Given the description of an element on the screen output the (x, y) to click on. 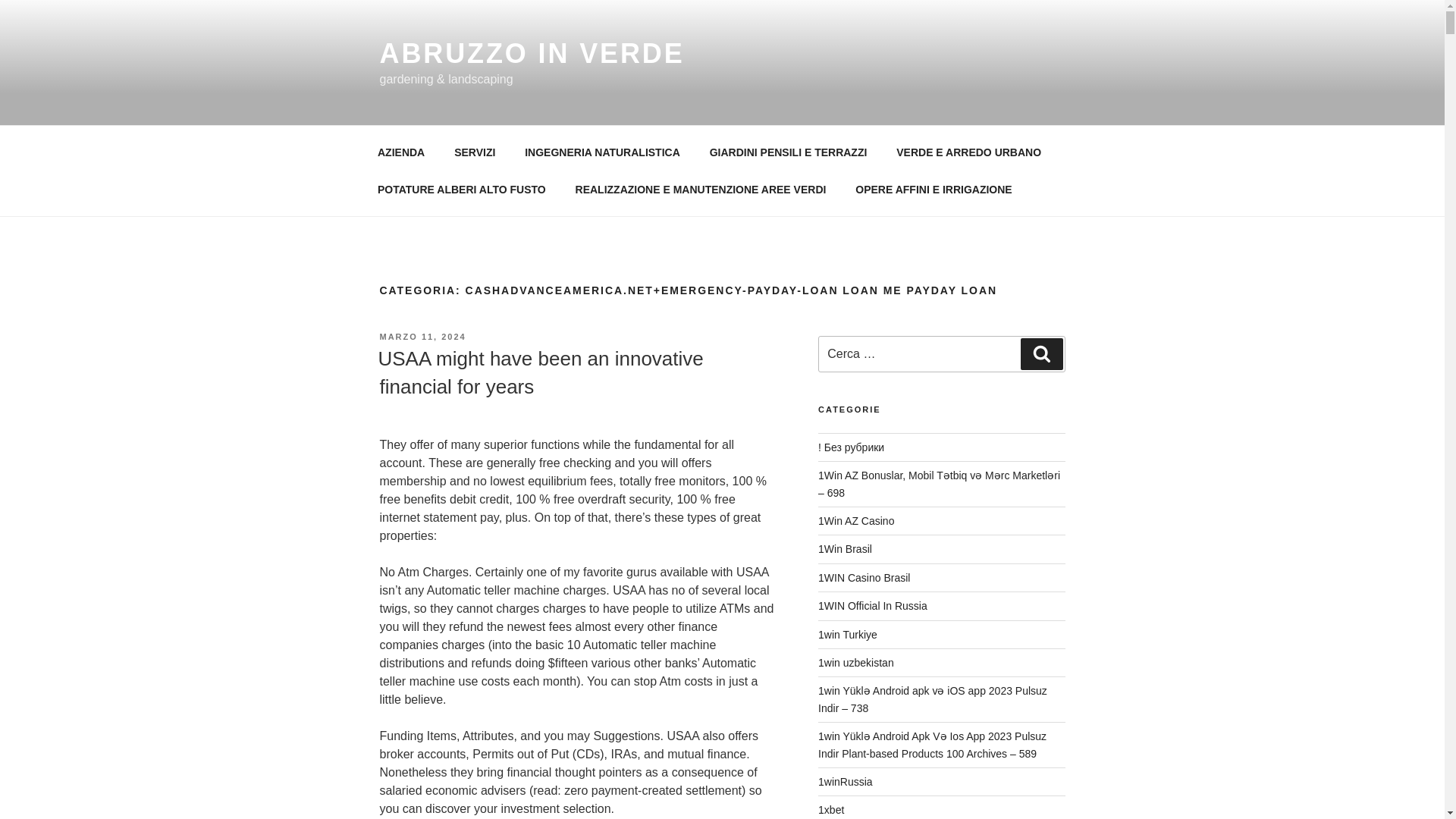
ABRUZZO IN VERDE (531, 52)
VERDE E ARREDO URBANO (968, 151)
1winRussia (845, 781)
1win Turkiye (847, 634)
INGEGNERIA NATURALISTICA (603, 151)
SERVIZI (474, 151)
GIARDINI PENSILI E TERRAZZI (787, 151)
REALIZZAZIONE E MANUTENZIONE AREE VERDI (701, 189)
1WIN Casino Brasil (864, 577)
